Given the description of an element on the screen output the (x, y) to click on. 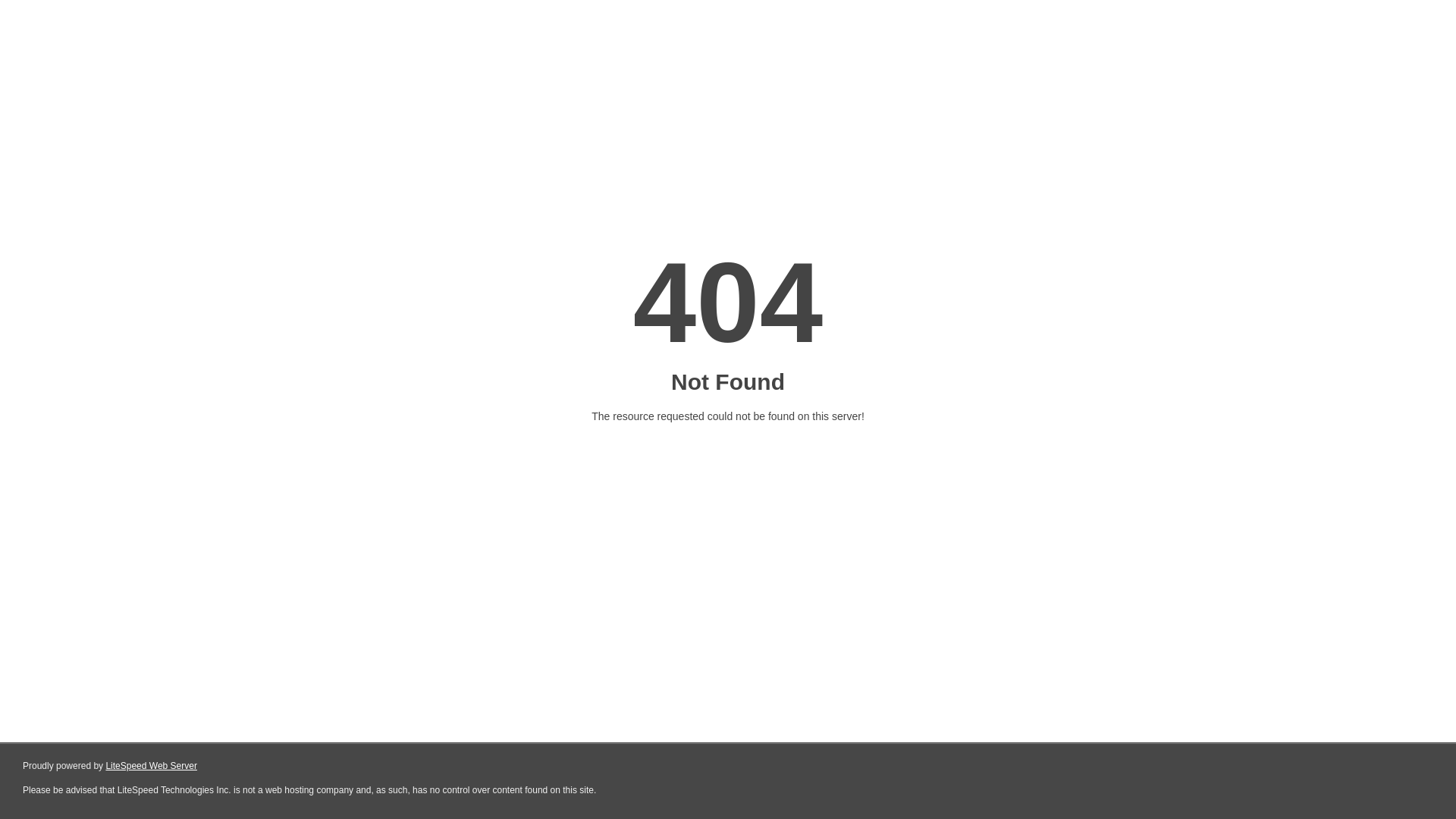
LiteSpeed Web Server Element type: text (151, 765)
